Given the description of an element on the screen output the (x, y) to click on. 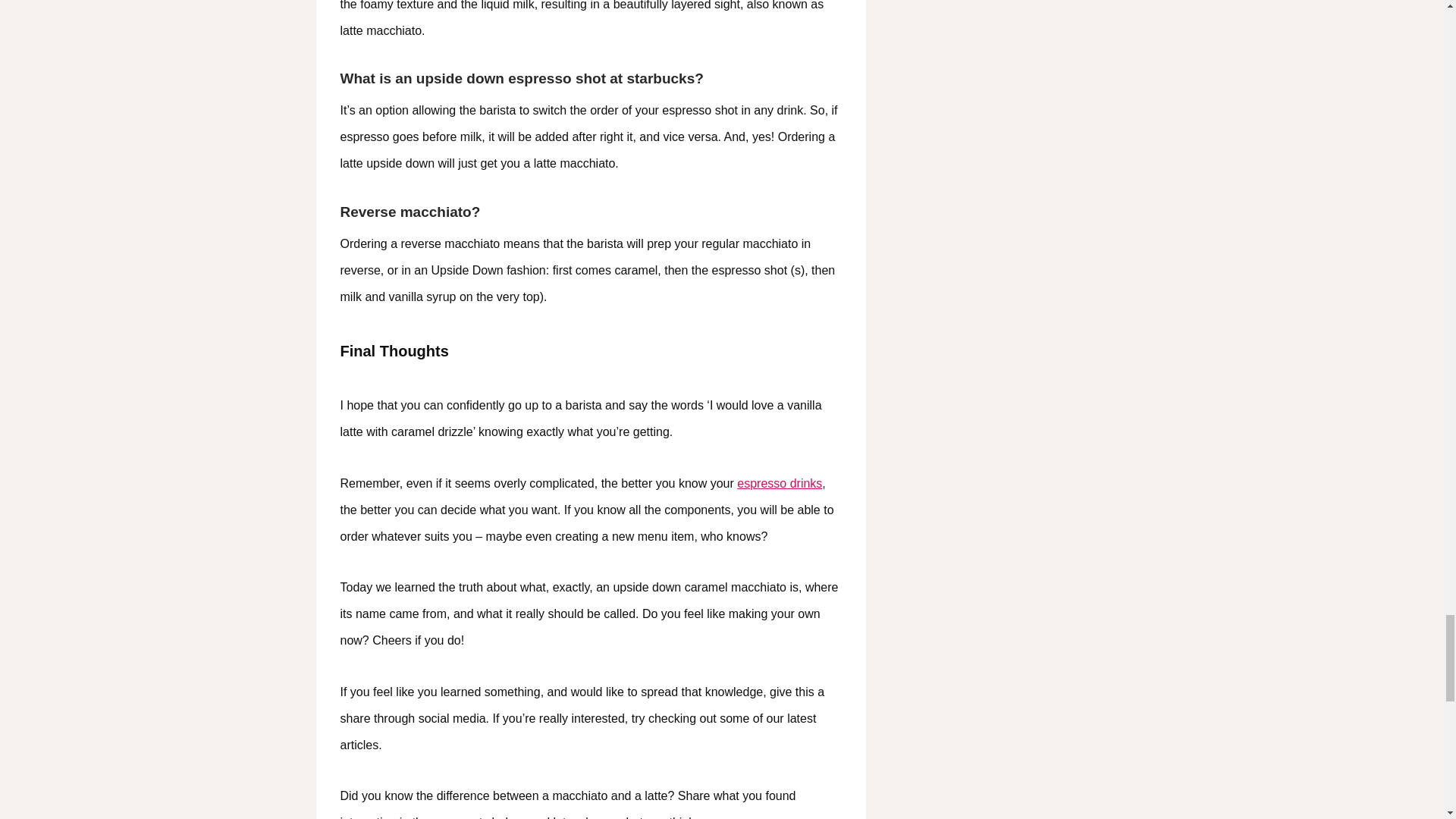
espresso drinks (779, 481)
